Given the description of an element on the screen output the (x, y) to click on. 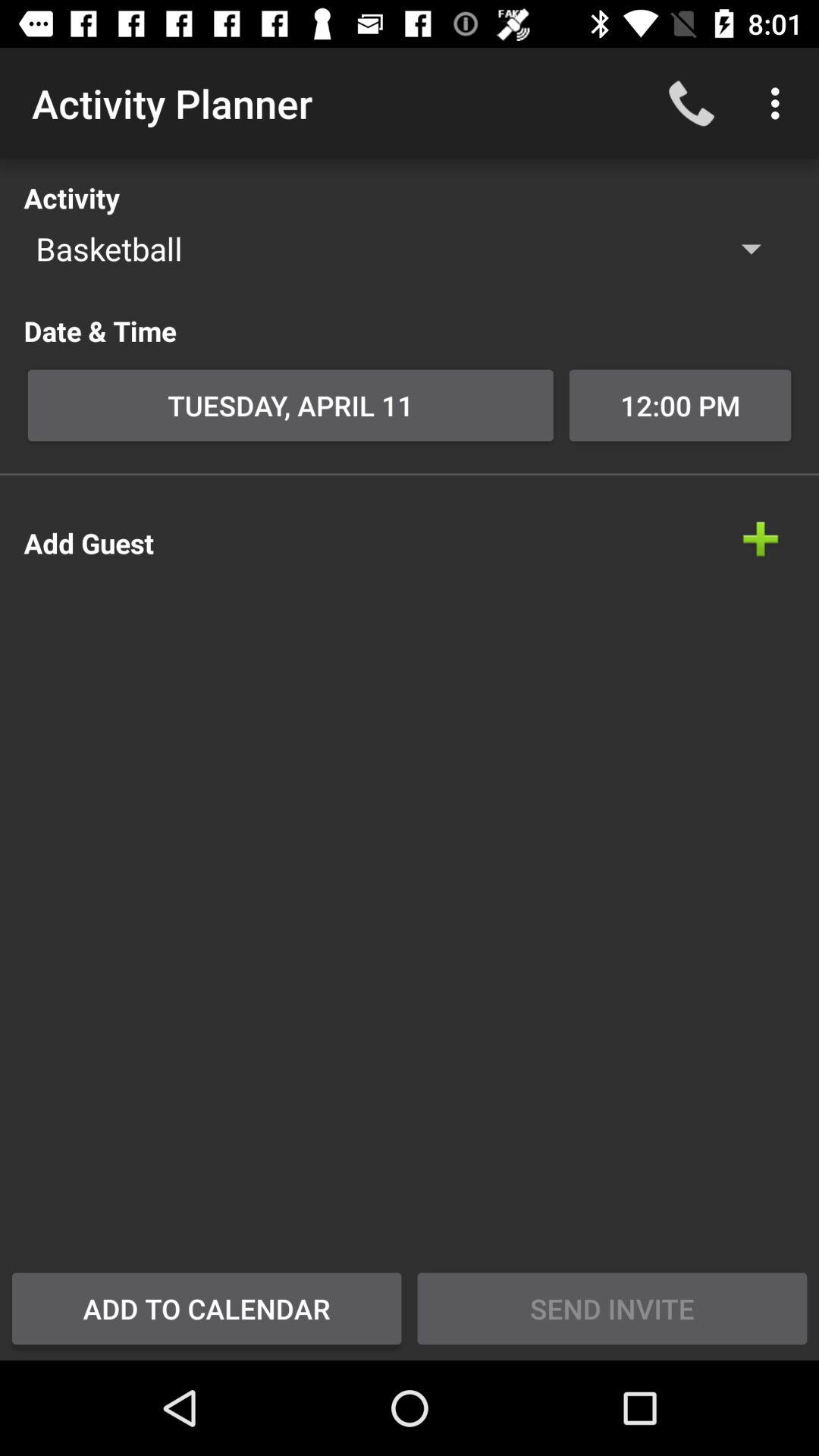
turn off the tuesday, april 11 item (290, 405)
